Given the description of an element on the screen output the (x, y) to click on. 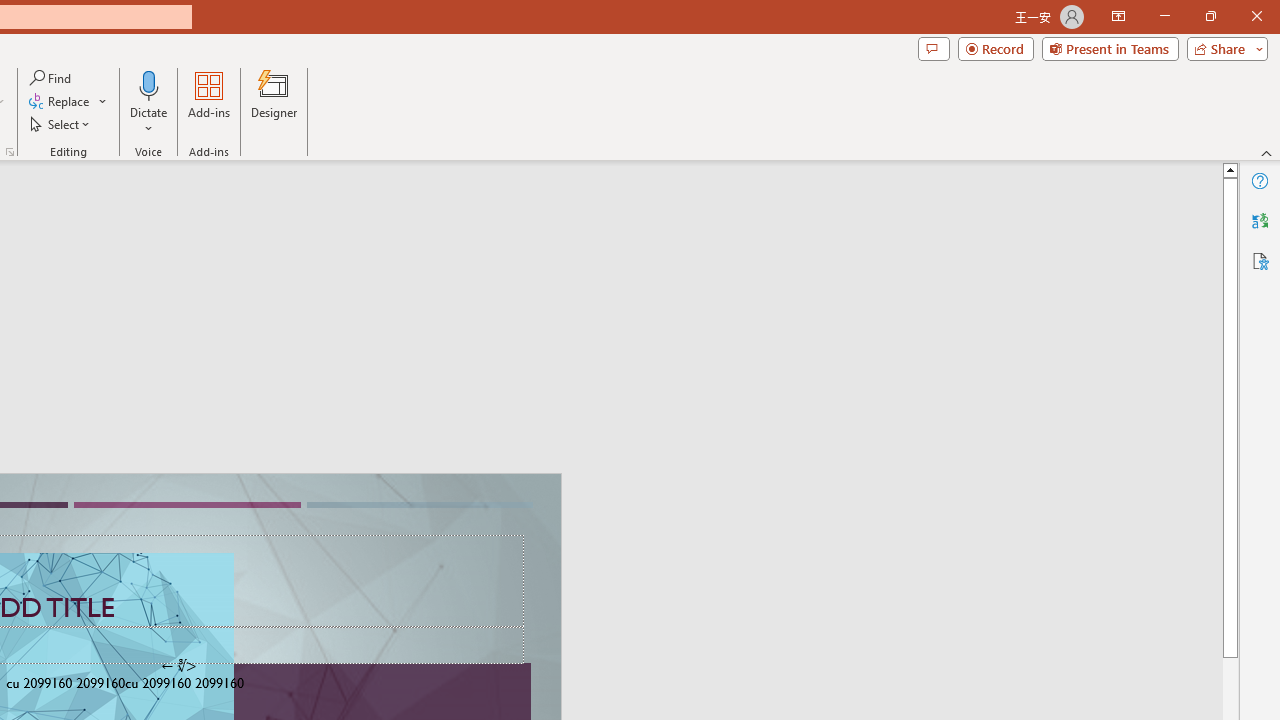
Format Object... (9, 151)
Translator (1260, 220)
